Given the description of an element on the screen output the (x, y) to click on. 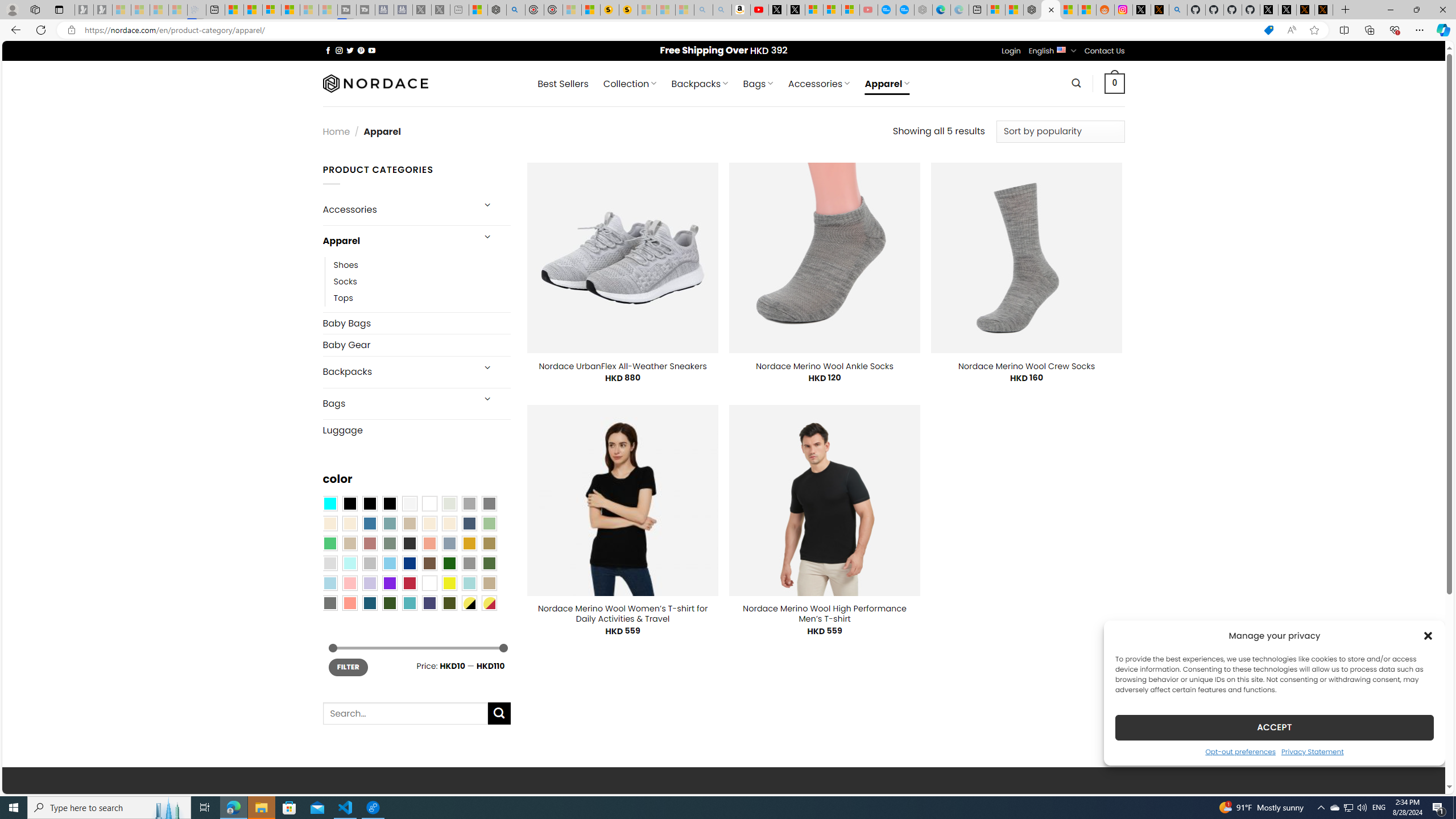
Contact Us (1104, 50)
Forest (389, 602)
Yellow-Red (488, 602)
